Given the description of an element on the screen output the (x, y) to click on. 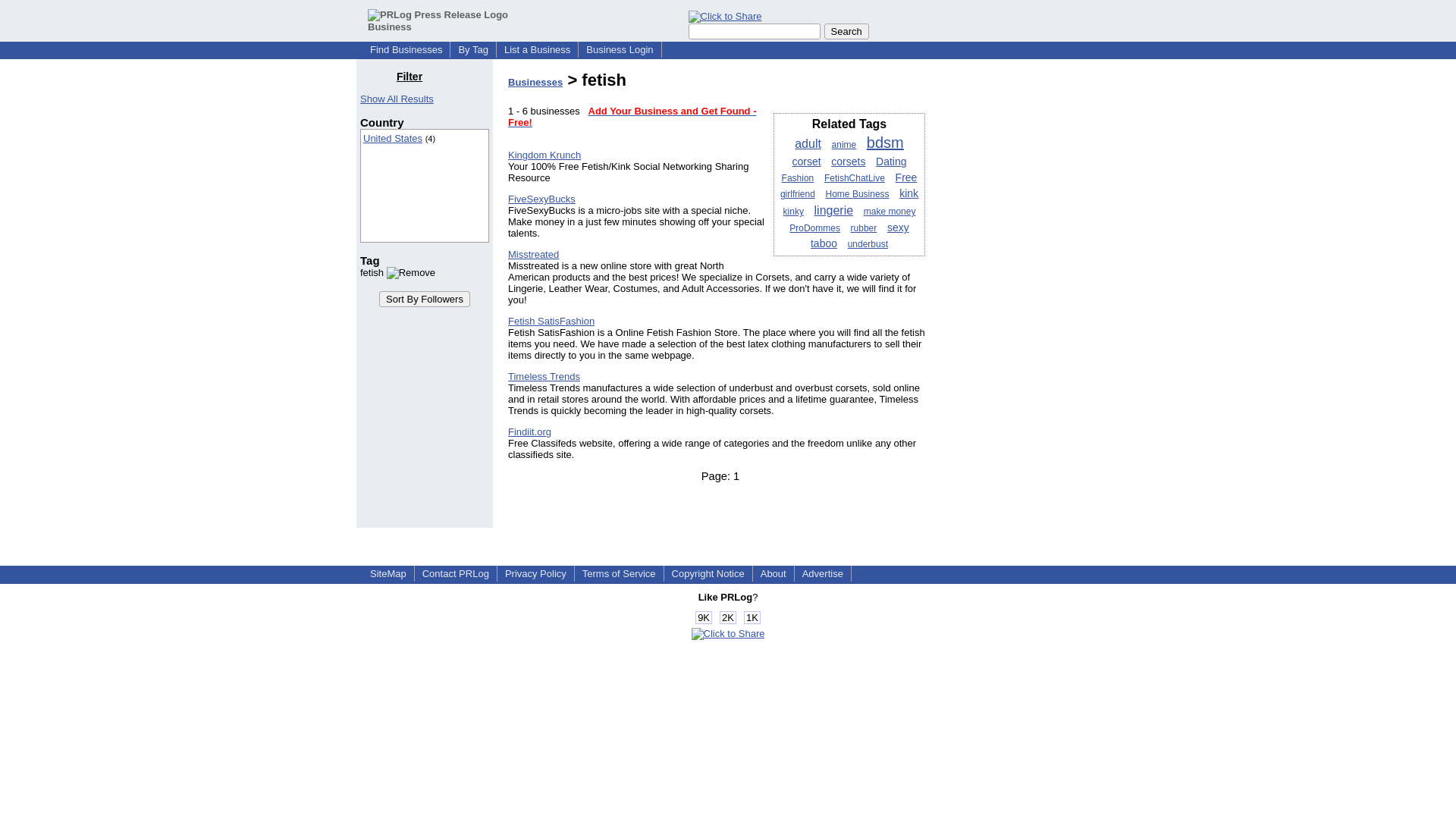
Fashion (797, 177)
underbust (867, 244)
Kingdom Krunch (544, 154)
girlfriend (797, 194)
Sort By Followers (424, 299)
FiveSexyBucks (541, 198)
taboo (823, 243)
FetishChatLive (854, 177)
Show All Results (396, 98)
adult (807, 143)
ProDommes (814, 227)
Share this page! (728, 633)
United States (392, 138)
Click to see the index with all filters cleared (396, 98)
Search (846, 31)
